Given the description of an element on the screen output the (x, y) to click on. 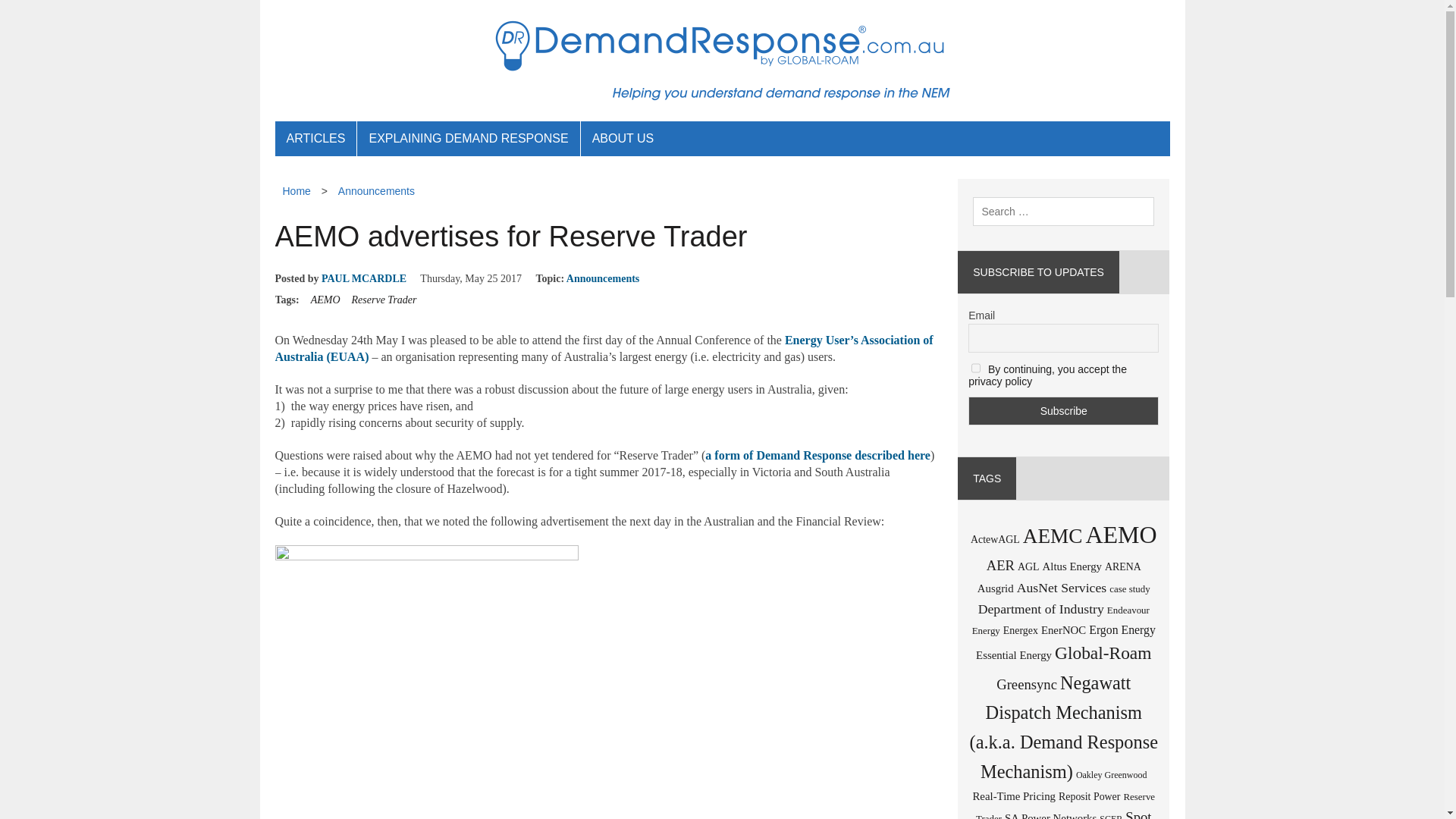
AER (1000, 565)
19 topics (1053, 535)
10 topics (1000, 565)
EXPLAINING DEMAND RESPONSE (467, 138)
24 topics (1120, 533)
a form of Demand Response described here (817, 454)
AGL (1028, 566)
5 topics (995, 539)
ABOUT US (622, 138)
Subscribe (1063, 410)
Subscribe (1063, 410)
ActewAGL (995, 539)
Announcements (602, 278)
AEMC (1053, 535)
6 topics (1072, 566)
